Given the description of an element on the screen output the (x, y) to click on. 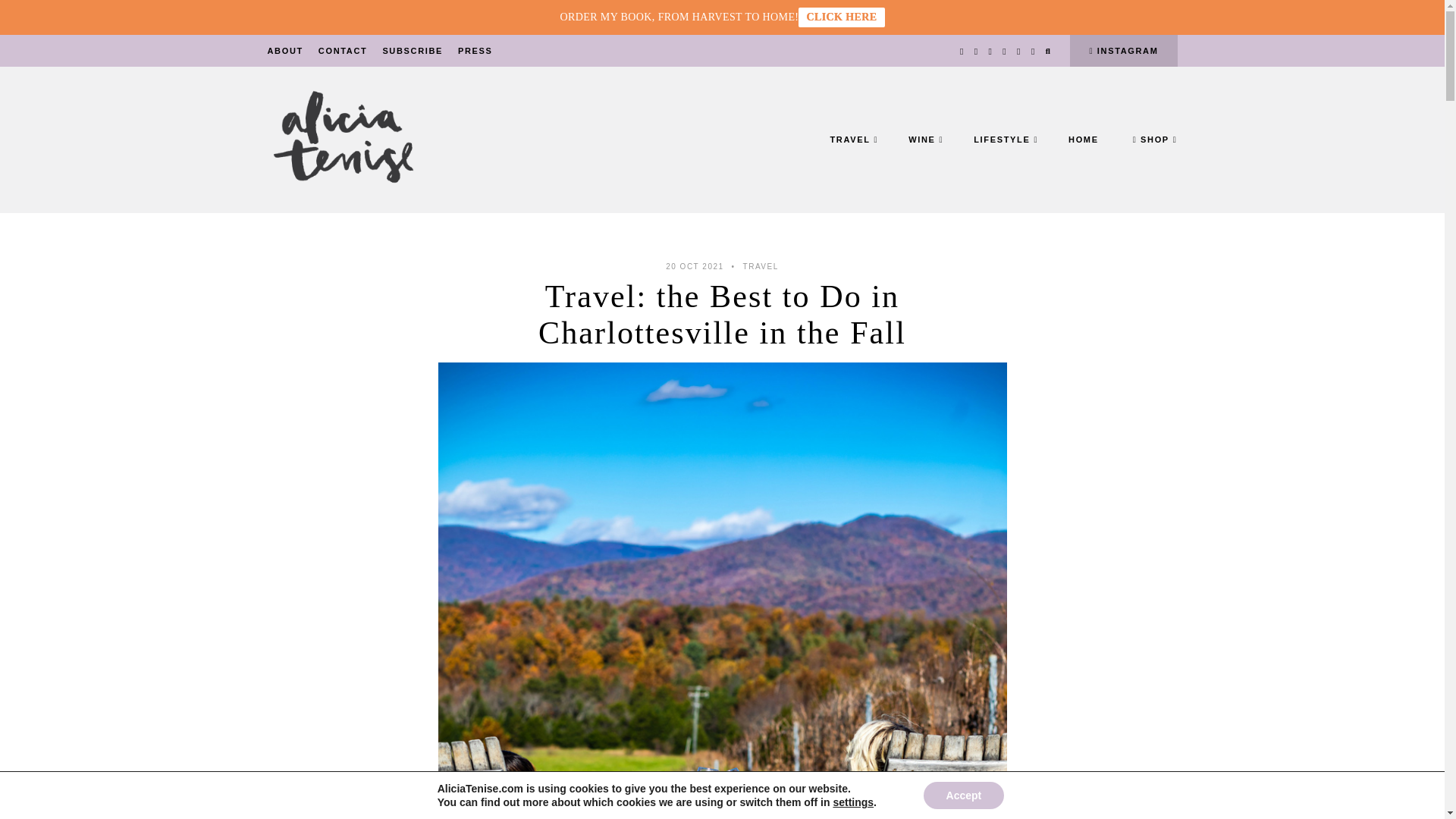
CLICK HERE (840, 17)
View all posts in Travel (760, 266)
